Given the description of an element on the screen output the (x, y) to click on. 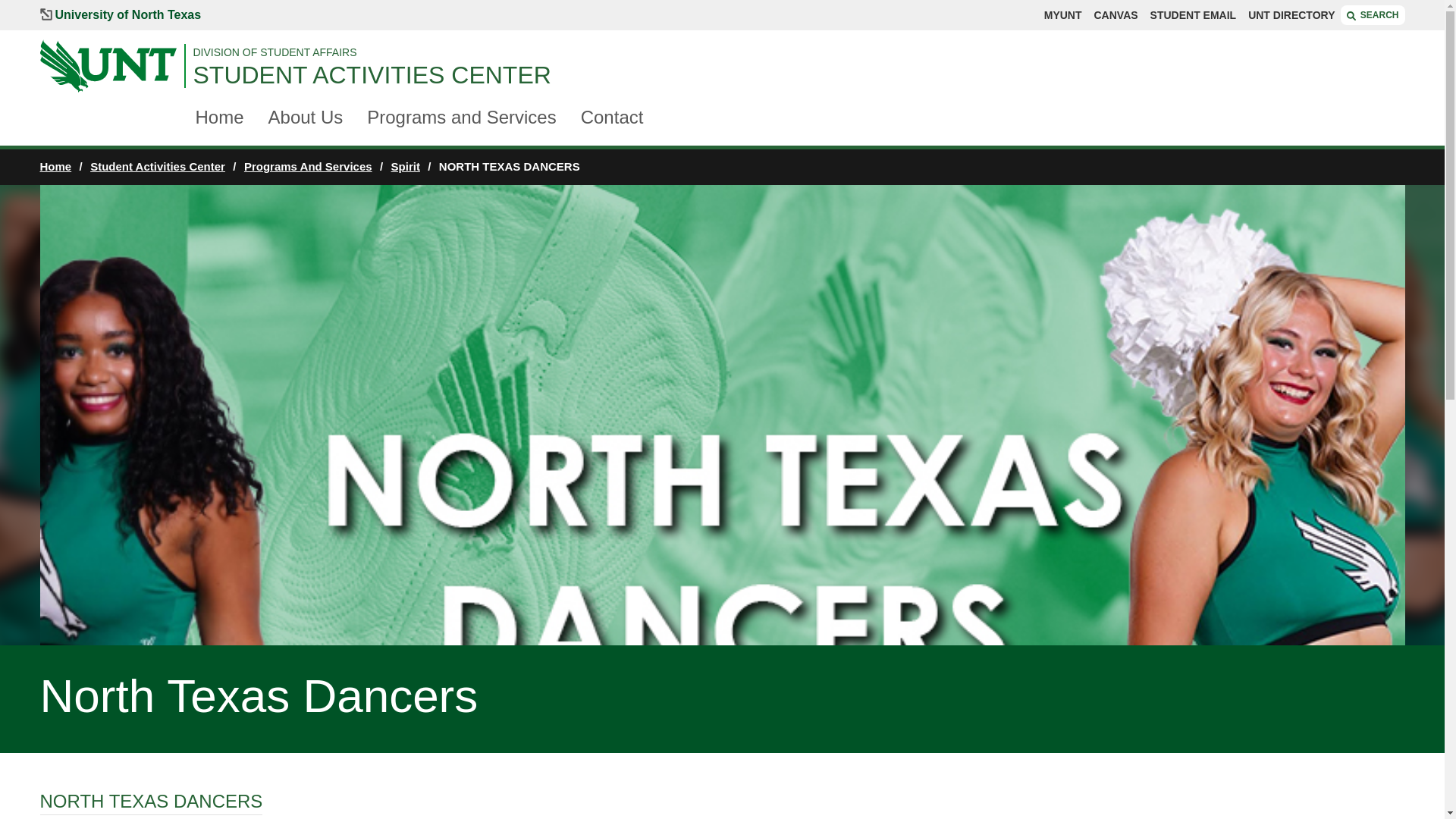
STUDENT EMAIL (1193, 15)
DIVISION OF STUDENT AFFAIRS (798, 52)
Skip to main content (82, 7)
Home (219, 118)
MYUNT (1062, 15)
Home (55, 165)
SEARCH (1372, 14)
UNT DIRECTORY (1291, 15)
About Us (305, 118)
University of North Texas (119, 14)
Programs and Services (461, 118)
CANVAS (1115, 15)
Programs And Services (308, 165)
Contact (611, 118)
